Given the description of an element on the screen output the (x, y) to click on. 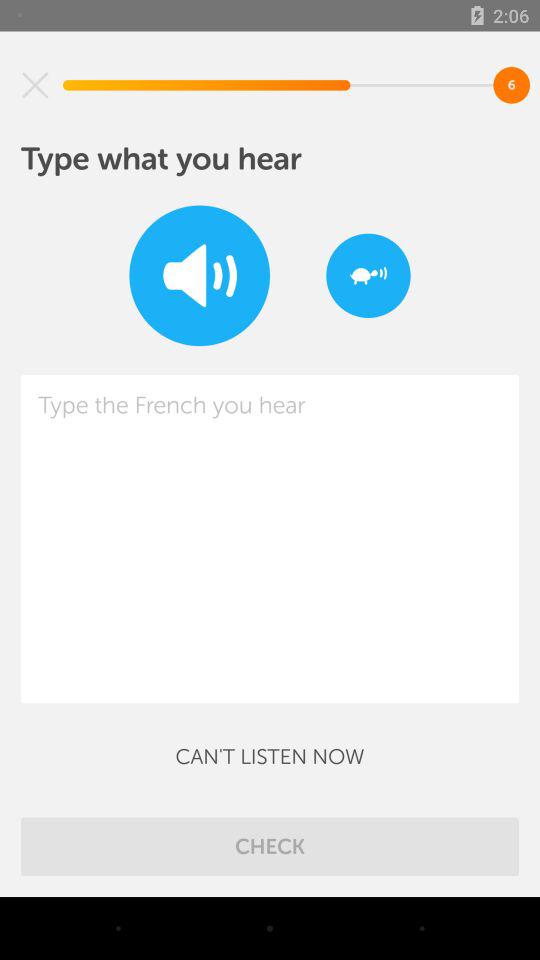
jump until the can t listen icon (270, 756)
